Given the description of an element on the screen output the (x, y) to click on. 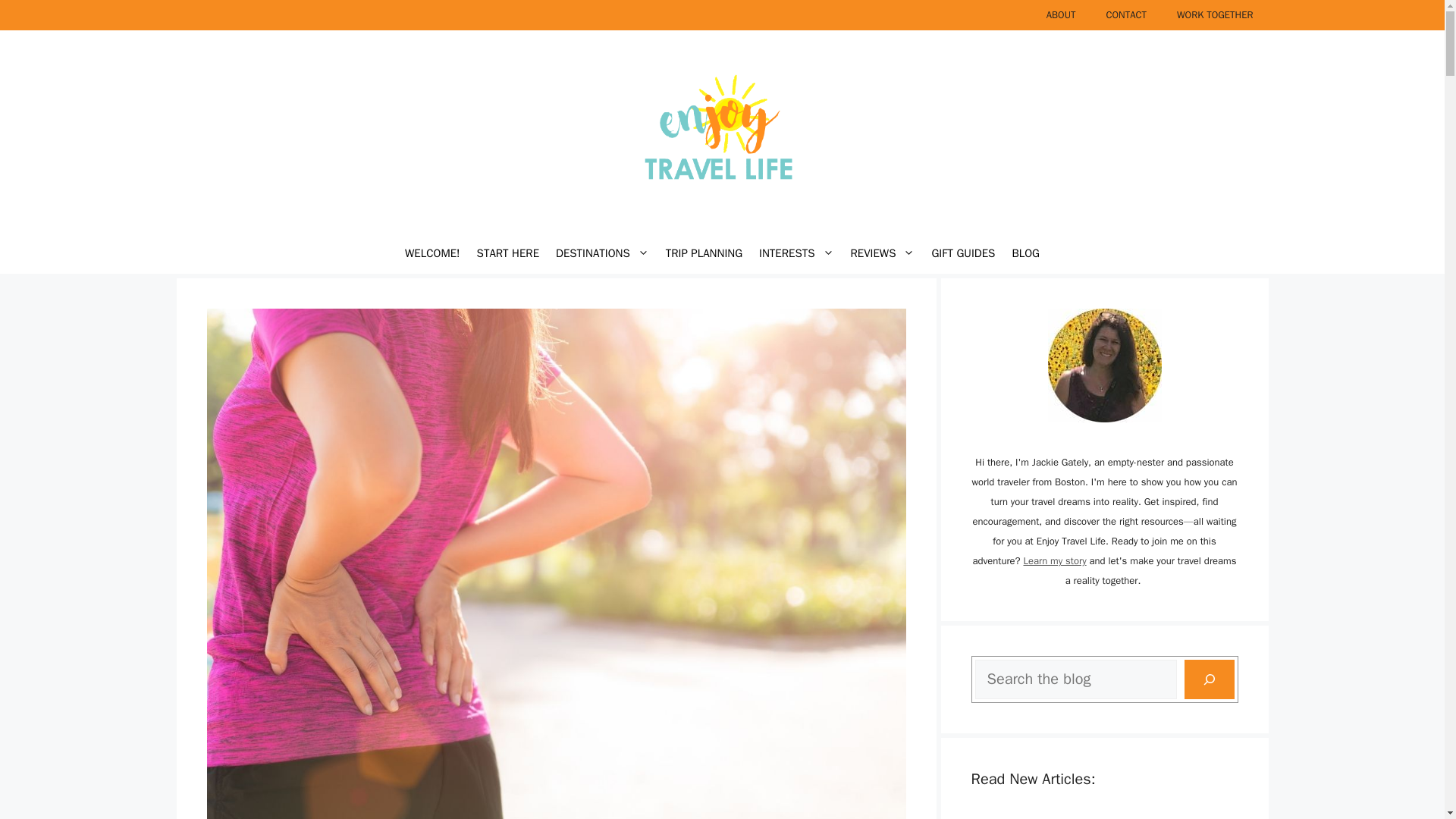
WORK TOGETHER (1214, 15)
CONTACT (1125, 15)
ABOUT (1060, 15)
